Given the description of an element on the screen output the (x, y) to click on. 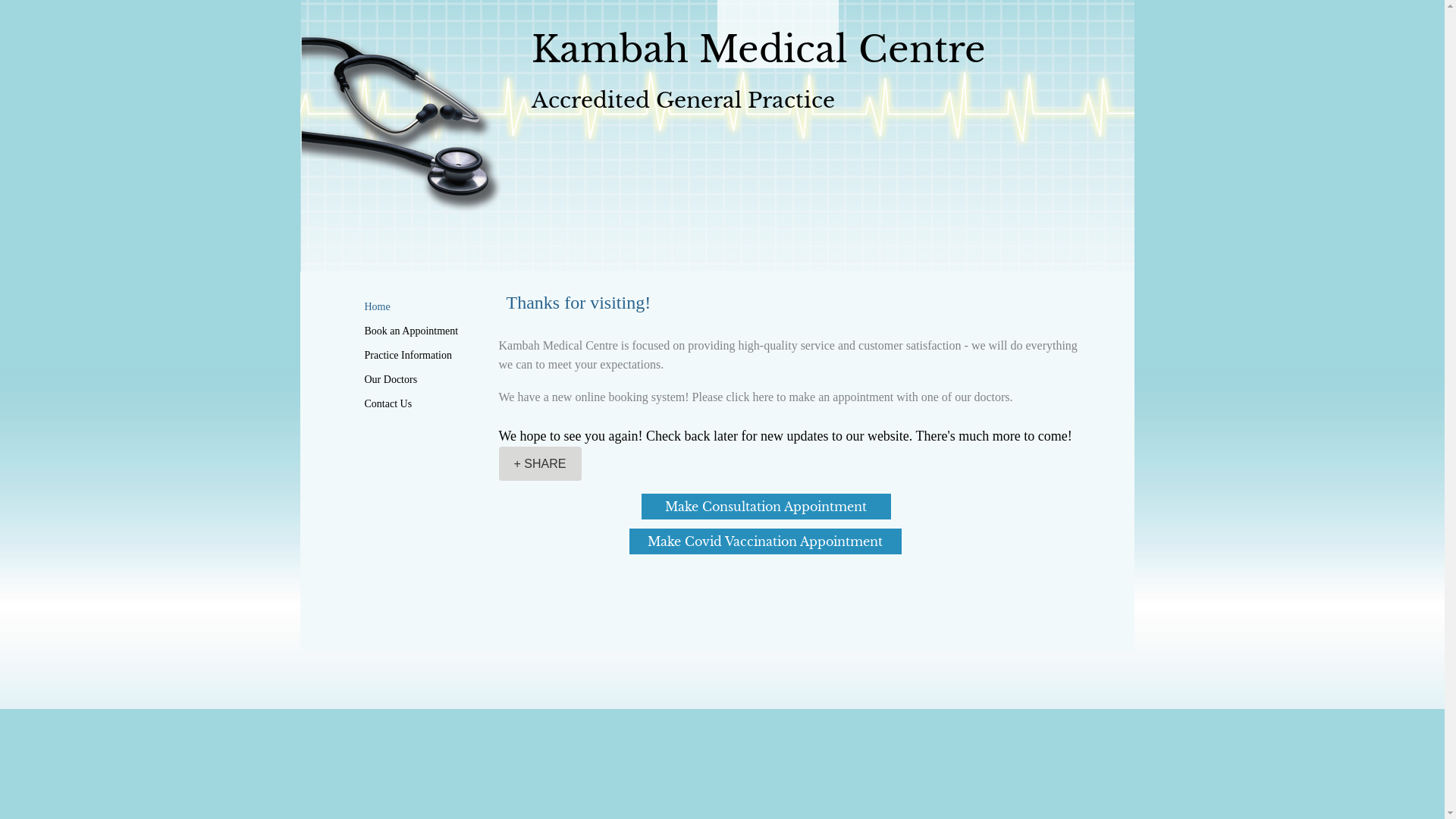
Contact Us Element type: text (387, 403)
+ SHARE Element type: text (539, 463)
Book an Appointment Element type: text (410, 331)
Make Covid Vaccination Appointment Element type: text (765, 541)
Home Element type: text (376, 306)
Make Consultation Appointment Element type: text (766, 506)
Practice Information Element type: text (407, 355)
Our Doctors Element type: text (390, 379)
